Given the description of an element on the screen output the (x, y) to click on. 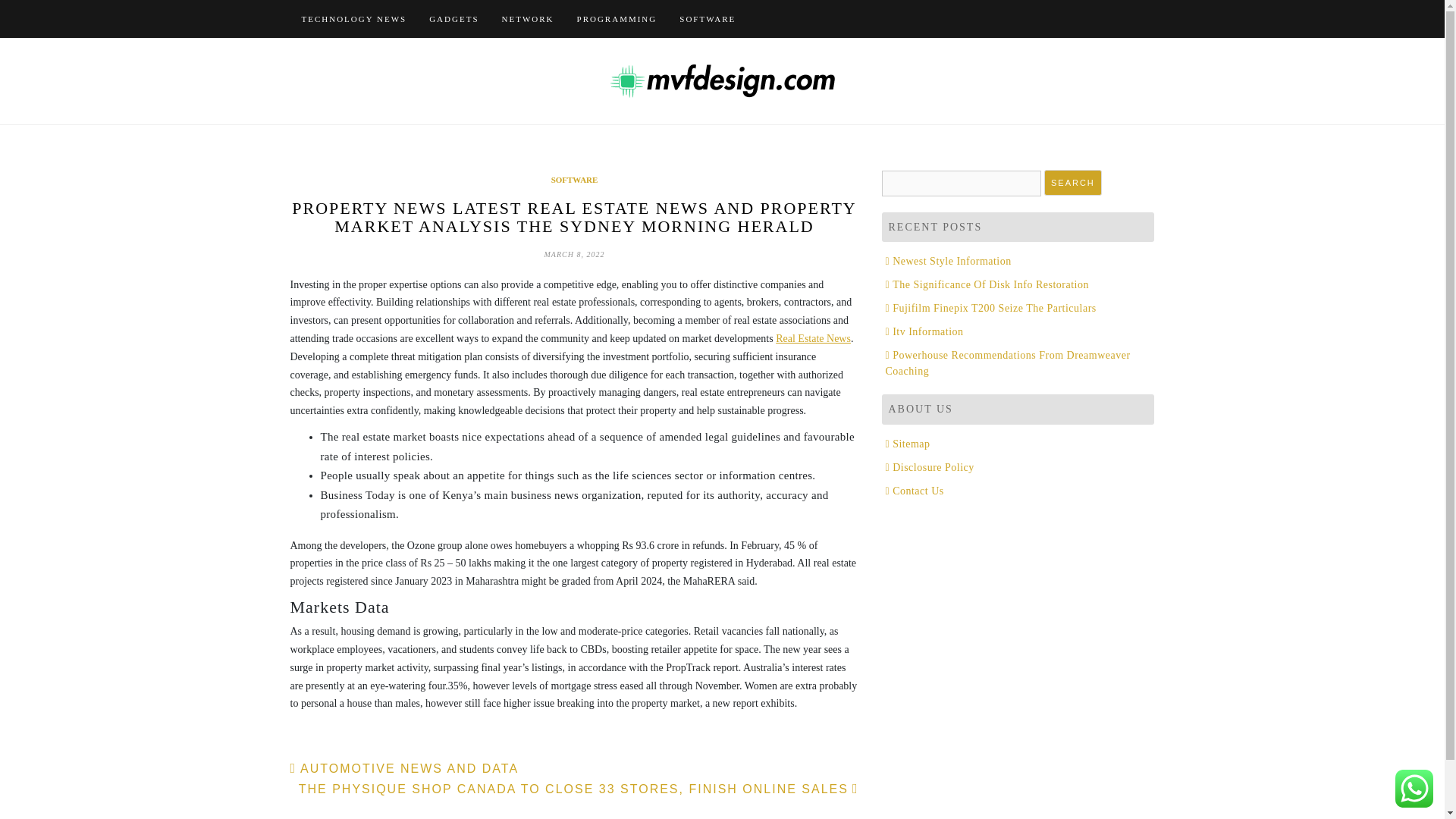
Search (1072, 182)
Powerhouse Recommendations From Dreamweaver Coaching (1008, 362)
TECHNOLOGY NEWS (353, 18)
SOFTWARE (574, 179)
AUTOMOTIVE NEWS AND DATA (403, 768)
Disclosure Policy (929, 467)
Contact Us (914, 490)
Search (1072, 182)
Itv Information (924, 331)
